Given the description of an element on the screen output the (x, y) to click on. 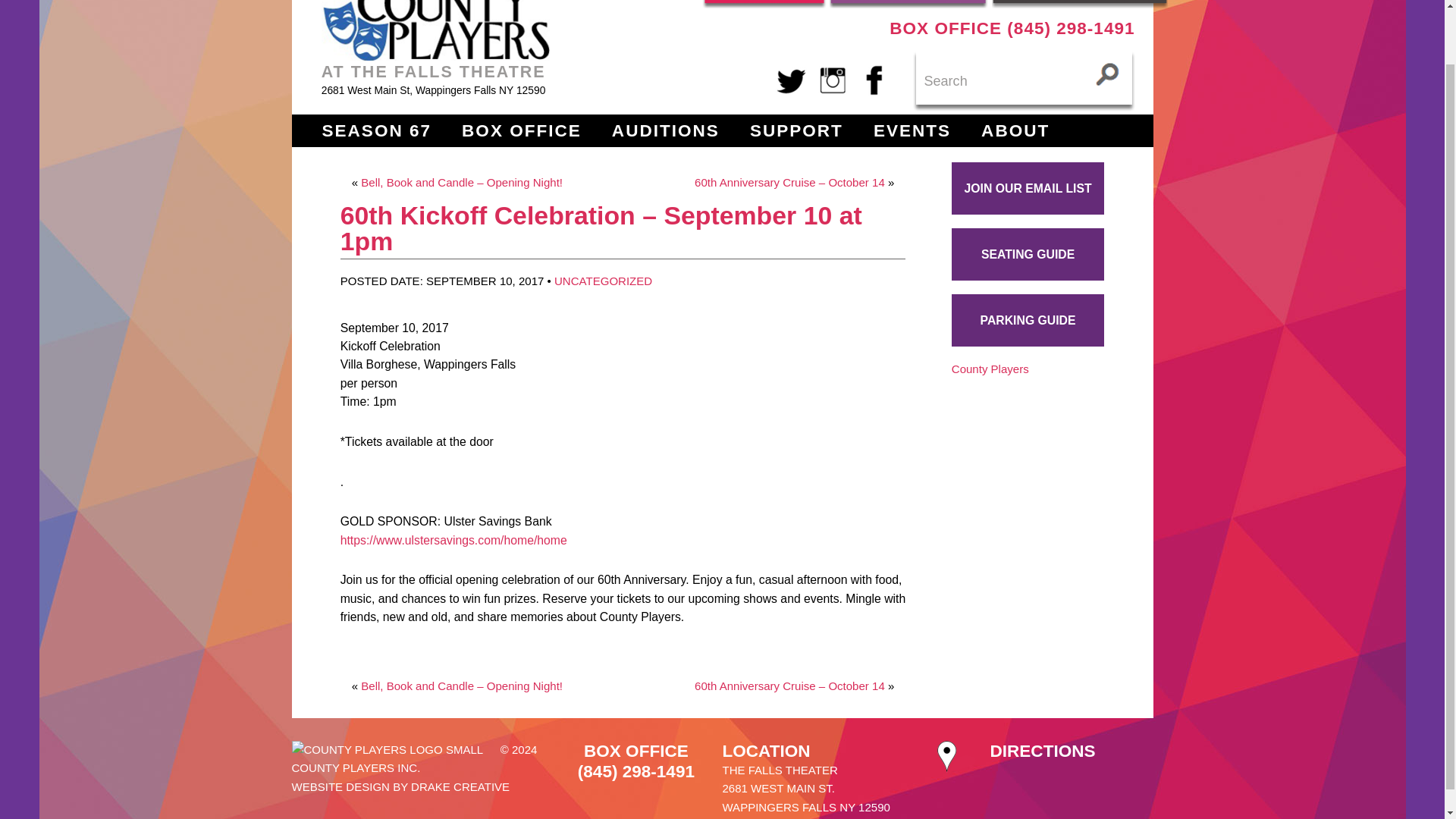
ABOUT (1015, 130)
BUY TICKETS (1079, 4)
Buy Tickets (1079, 4)
SUBSCRIBE (908, 4)
AUDITIONS (665, 130)
Twitter (792, 78)
EVENTS (911, 130)
DONATE (764, 4)
Search (1023, 80)
SUPPORT (796, 130)
Instagram (832, 78)
Subscribe (908, 4)
Donate (764, 4)
BOX OFFICE (520, 130)
Like Us On Facebook (874, 78)
